Given the description of an element on the screen output the (x, y) to click on. 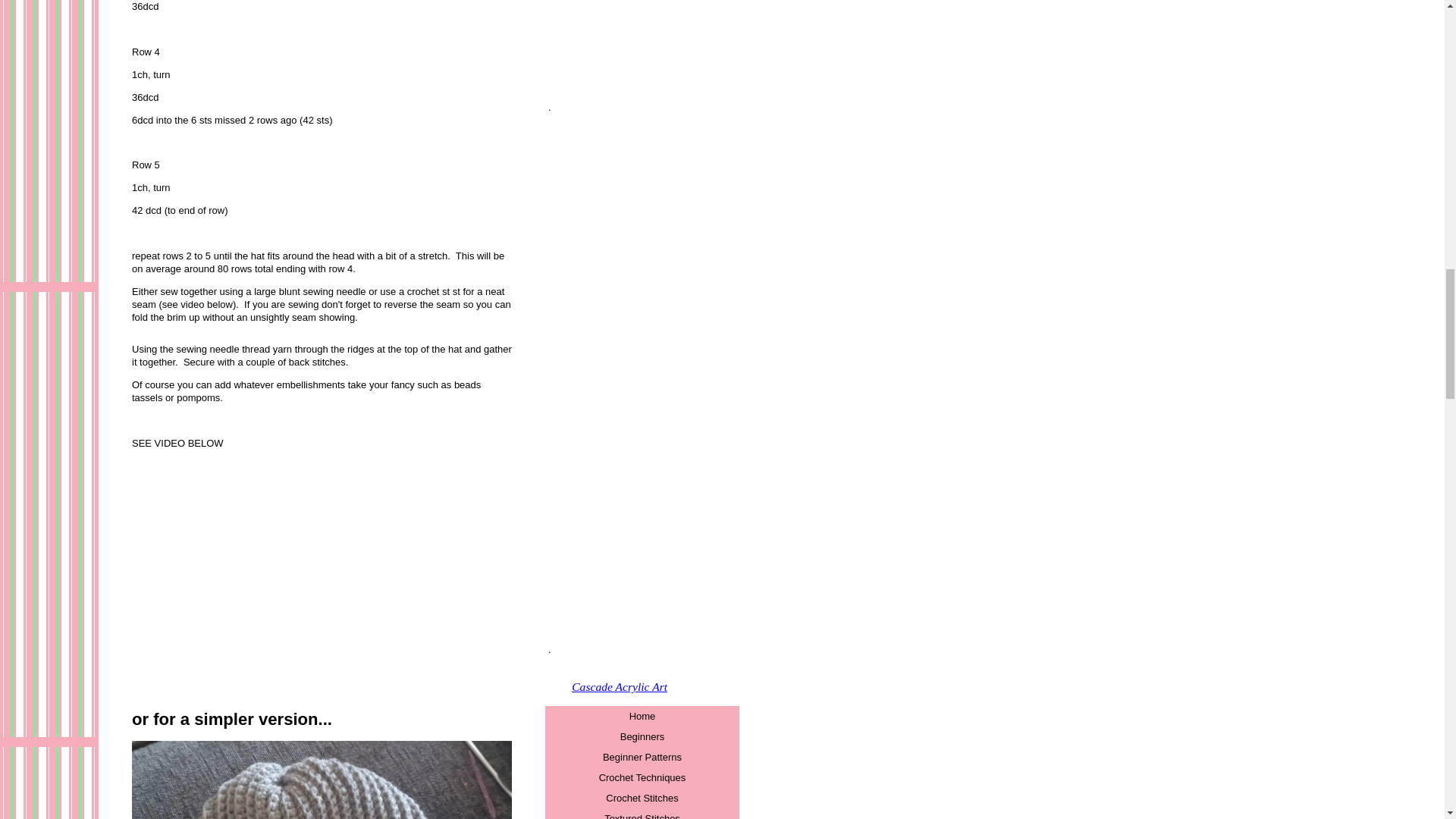
Grey hat6 (322, 780)
